Given the description of an element on the screen output the (x, y) to click on. 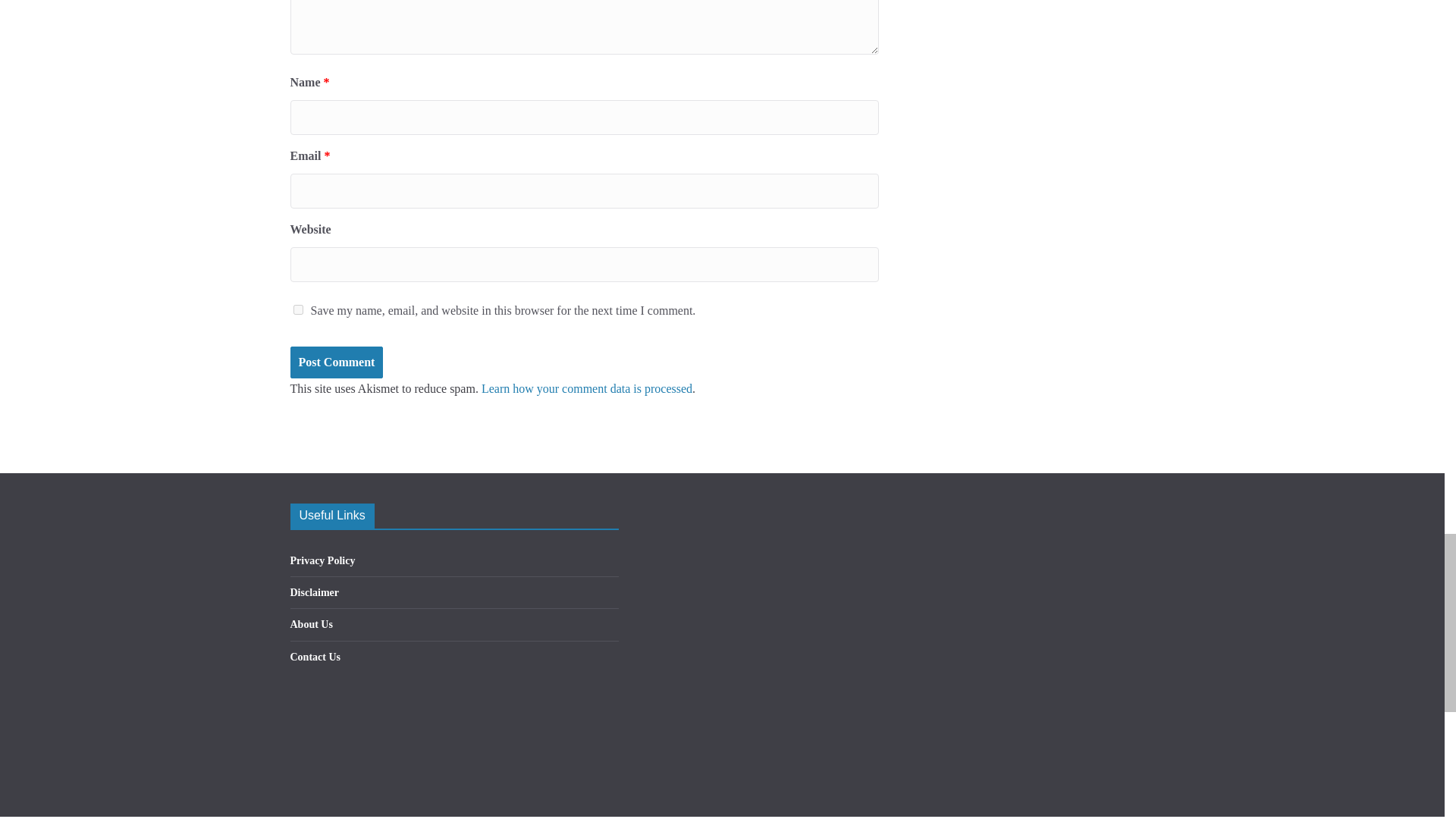
yes (297, 309)
Post Comment (335, 362)
